Given the description of an element on the screen output the (x, y) to click on. 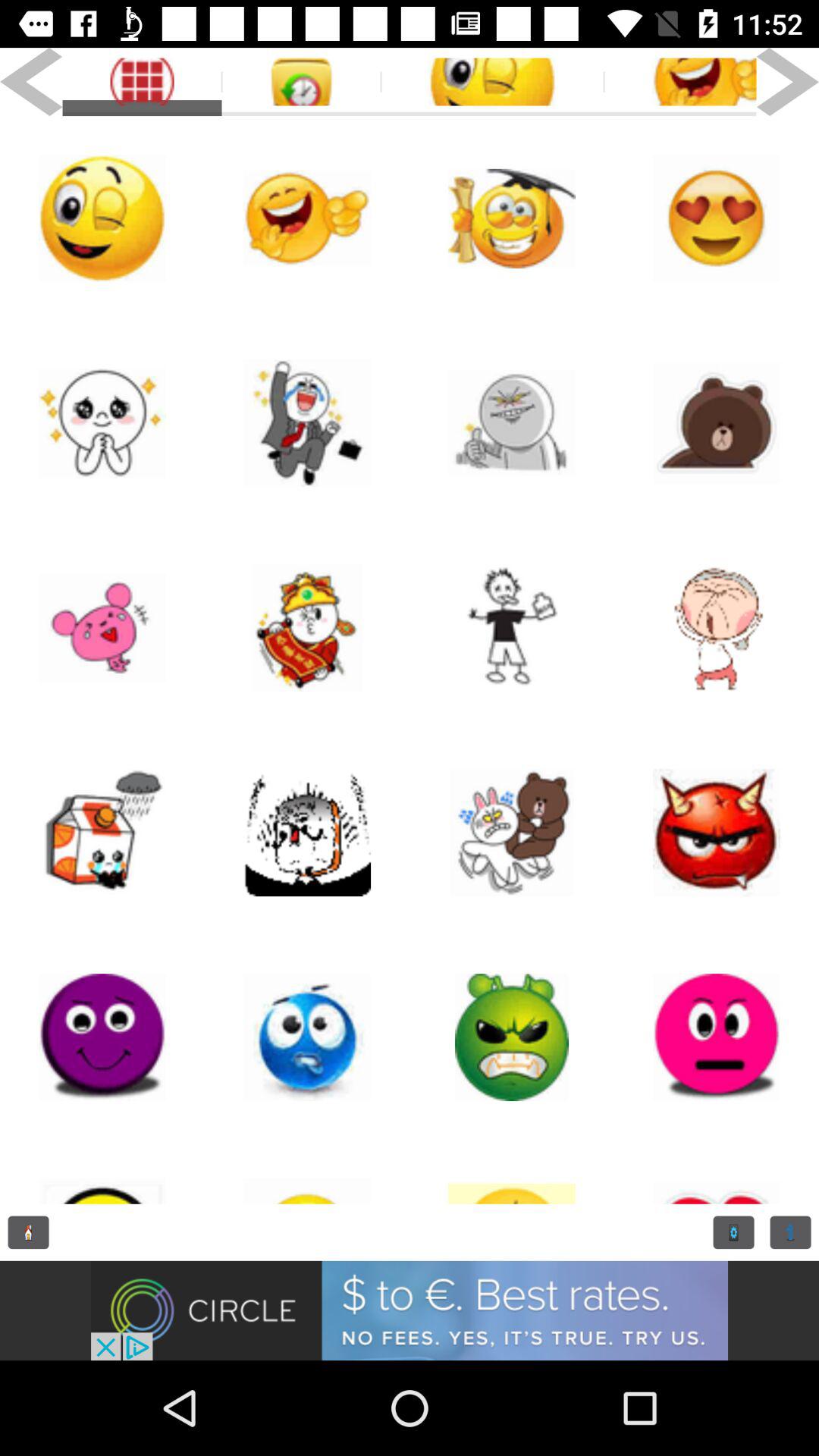
i con page (102, 1171)
